Given the description of an element on the screen output the (x, y) to click on. 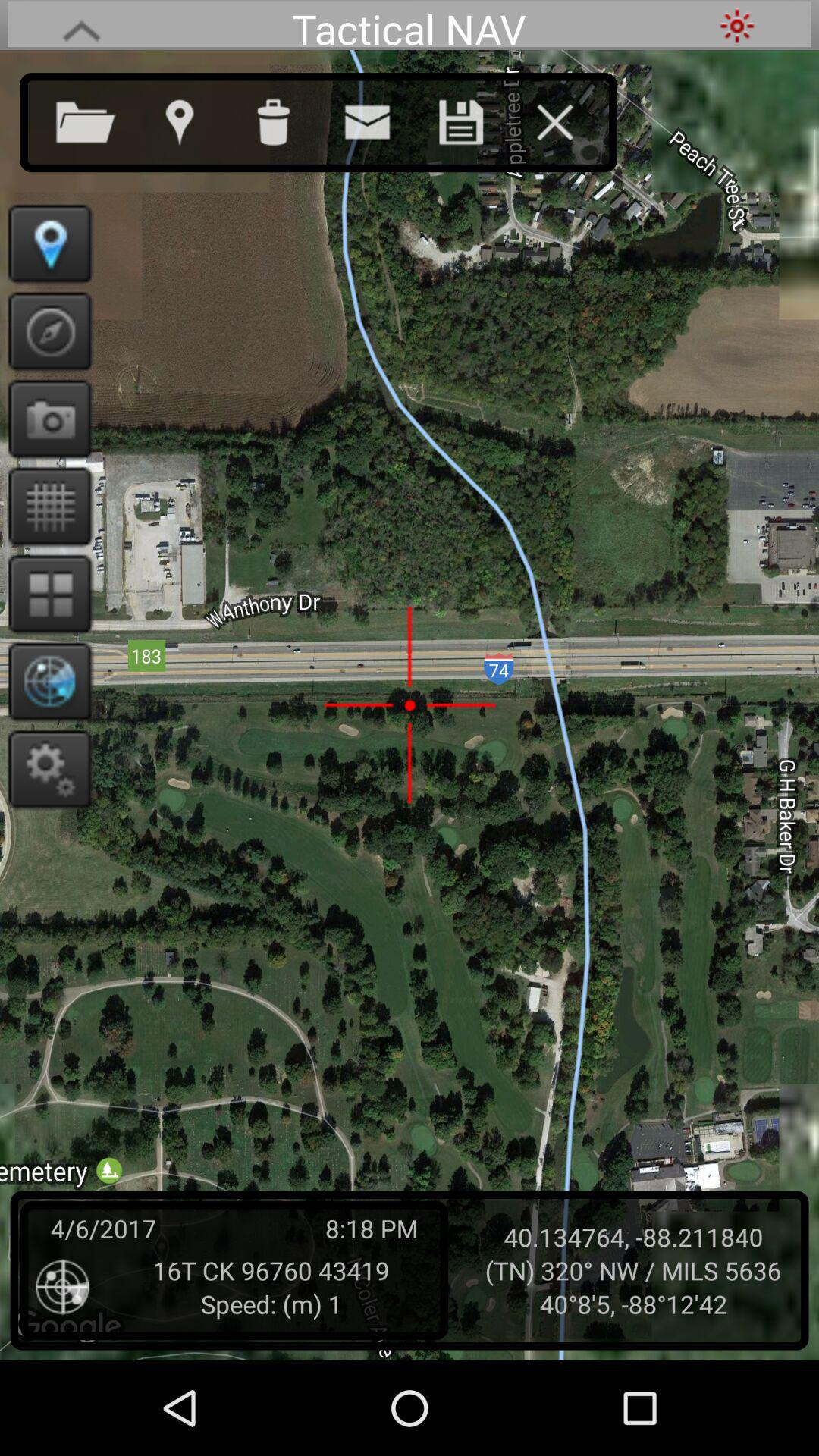
save (476, 119)
